Given the description of an element on the screen output the (x, y) to click on. 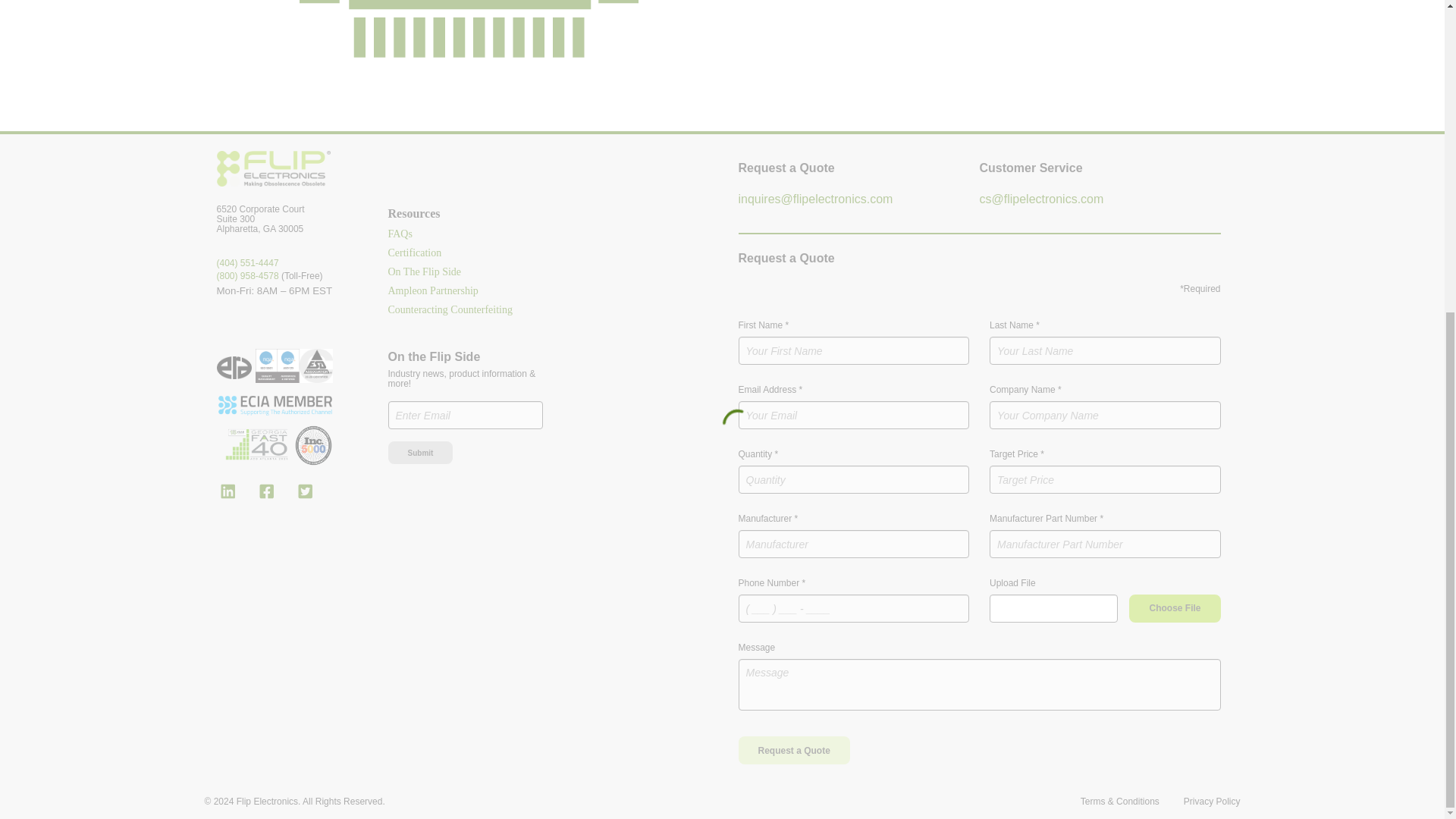
Certification (415, 252)
Counteracting Counterfeiting (450, 310)
Facebook (267, 491)
Twitter (305, 491)
Ampleon Partnership (433, 290)
On The Flip Side (424, 271)
FAQs (400, 234)
Submit (420, 452)
Linkedin (226, 491)
